Given the description of an element on the screen output the (x, y) to click on. 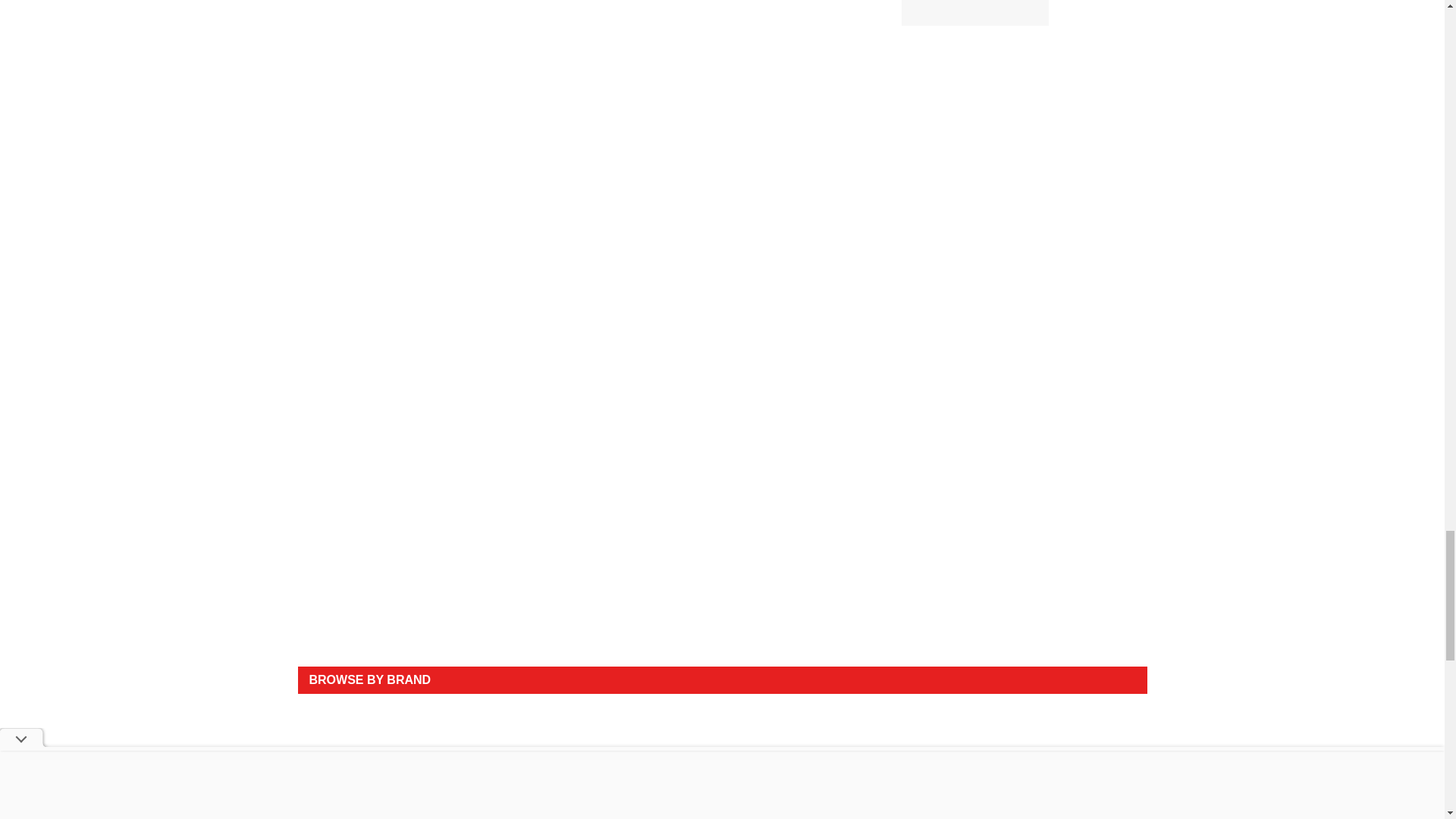
3rd party ad content (722, 617)
